Given the description of an element on the screen output the (x, y) to click on. 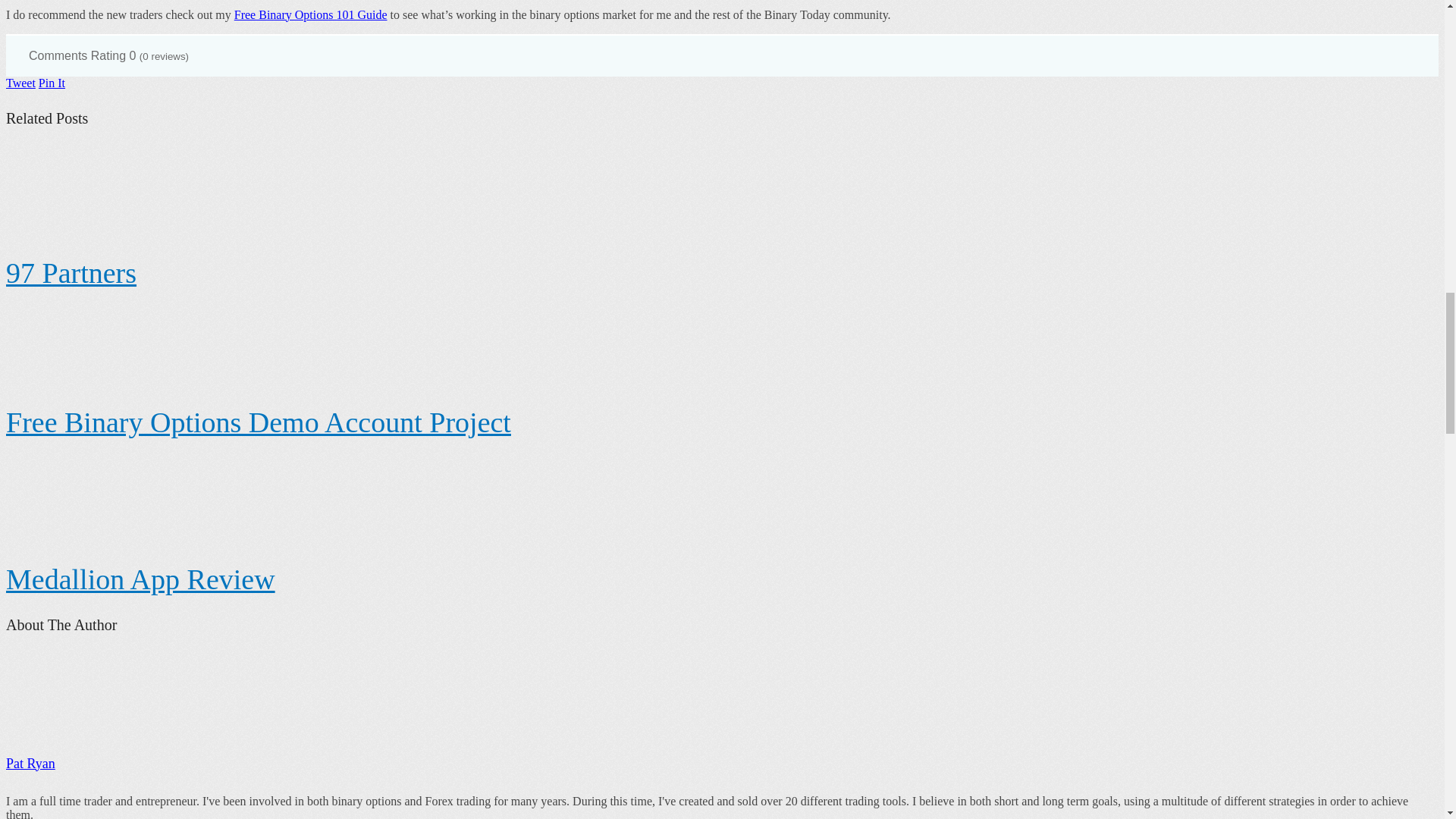
Tweet (19, 82)
97 Partners (70, 273)
Pat Ryan (30, 763)
Free Binary Options Demo Account Project (258, 422)
Free Binary Options Demo Account Project (258, 422)
Free Binary Options 101 Guide (310, 14)
Medallion App Review (140, 579)
97 Partners (70, 273)
Medallion App Review (140, 579)
Pin It (52, 82)
